Given the description of an element on the screen output the (x, y) to click on. 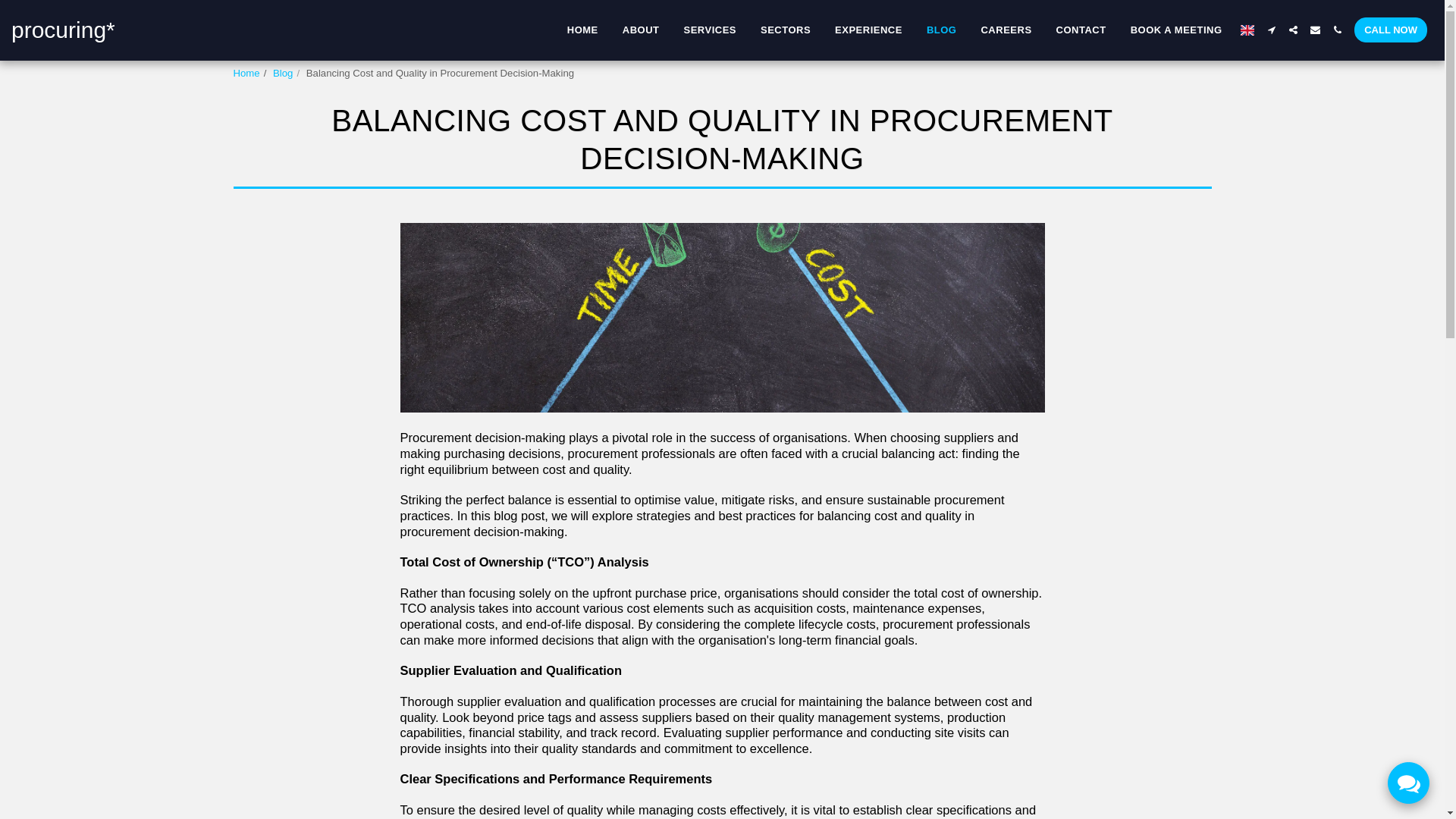
BOOK A MEETING (1176, 29)
Home (246, 72)
EXPERIENCE (869, 29)
SERVICES (709, 29)
ABOUT (641, 29)
CALL NOW (1390, 30)
BLOG (941, 29)
